Given the description of an element on the screen output the (x, y) to click on. 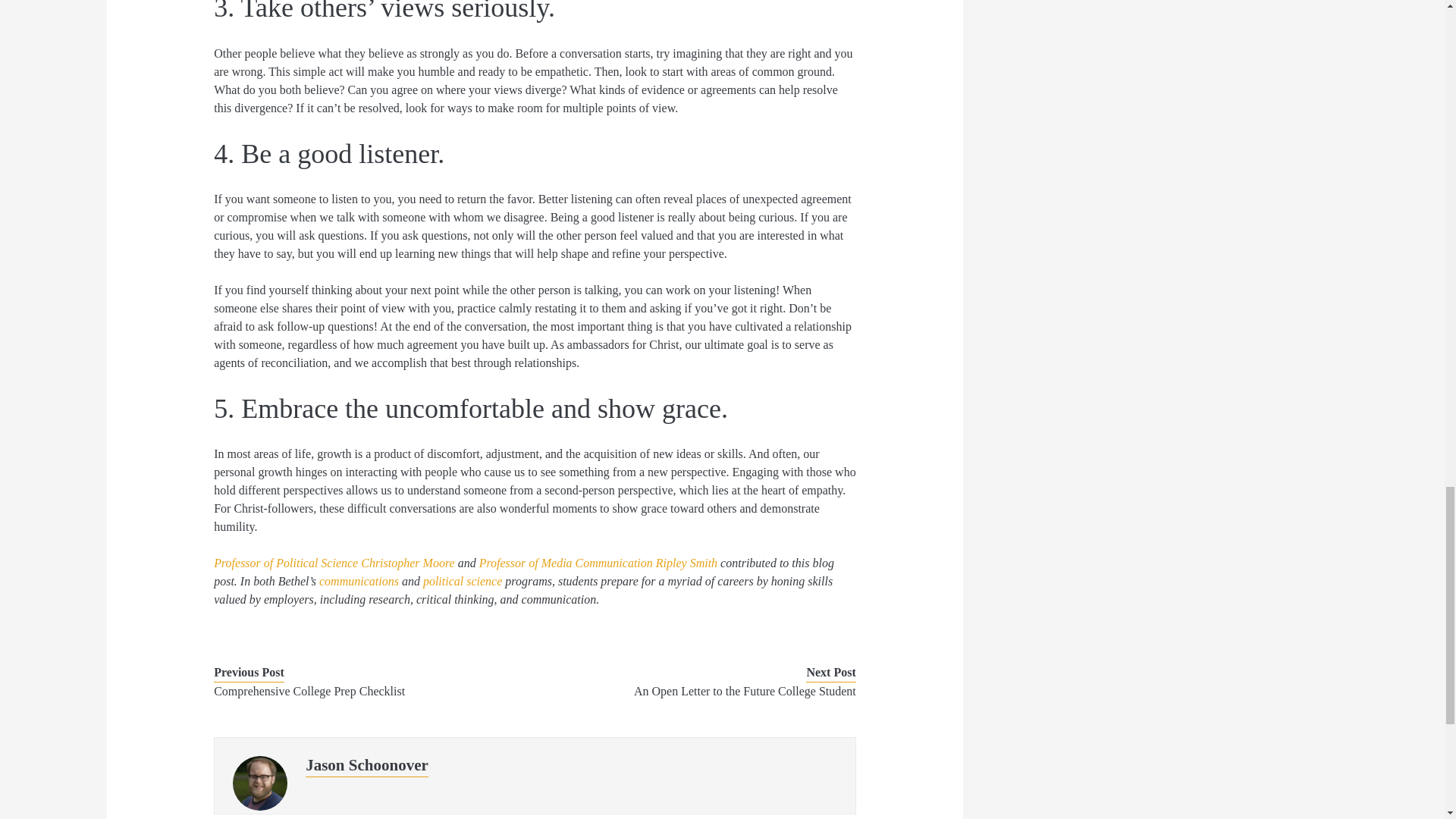
political science (462, 581)
Professor of Political Science Christopher Moore (334, 562)
Comprehensive College Prep Checklist (361, 691)
Professor of Media Communication Ripley Smith (598, 562)
An Open Letter to the Future College Student (708, 691)
communications (358, 581)
